Given the description of an element on the screen output the (x, y) to click on. 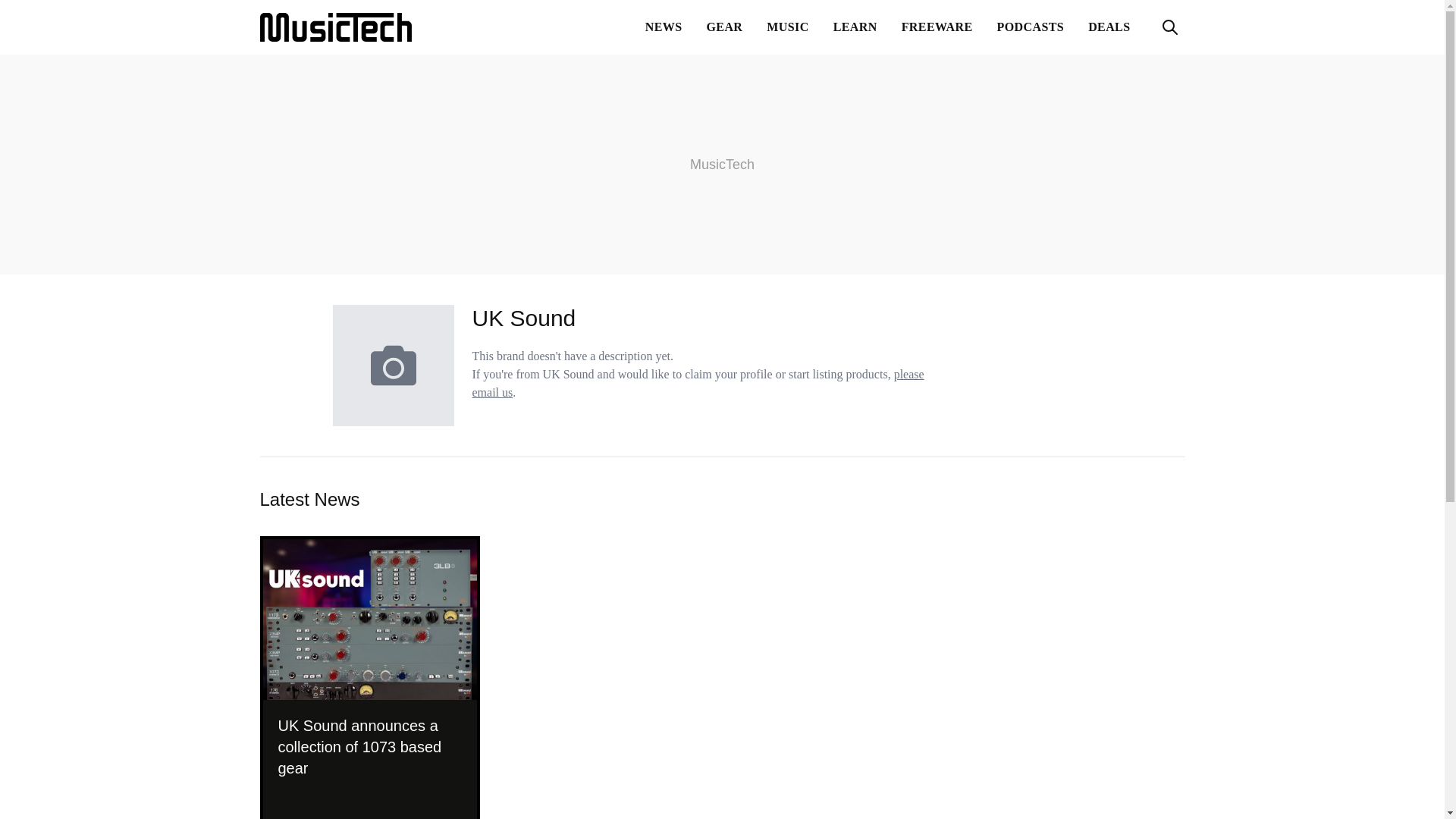
Published October 7, 2019 3:45PM (369, 797)
GEAR (724, 27)
LEARN (855, 27)
please email us (697, 382)
PODCASTS (1030, 27)
NEWS (663, 27)
MUSIC (786, 27)
DEALS (1108, 27)
UK Sound announces a collection of 1073 based gear (369, 746)
FREEWARE (936, 27)
MusicTech (334, 27)
